Given the description of an element on the screen output the (x, y) to click on. 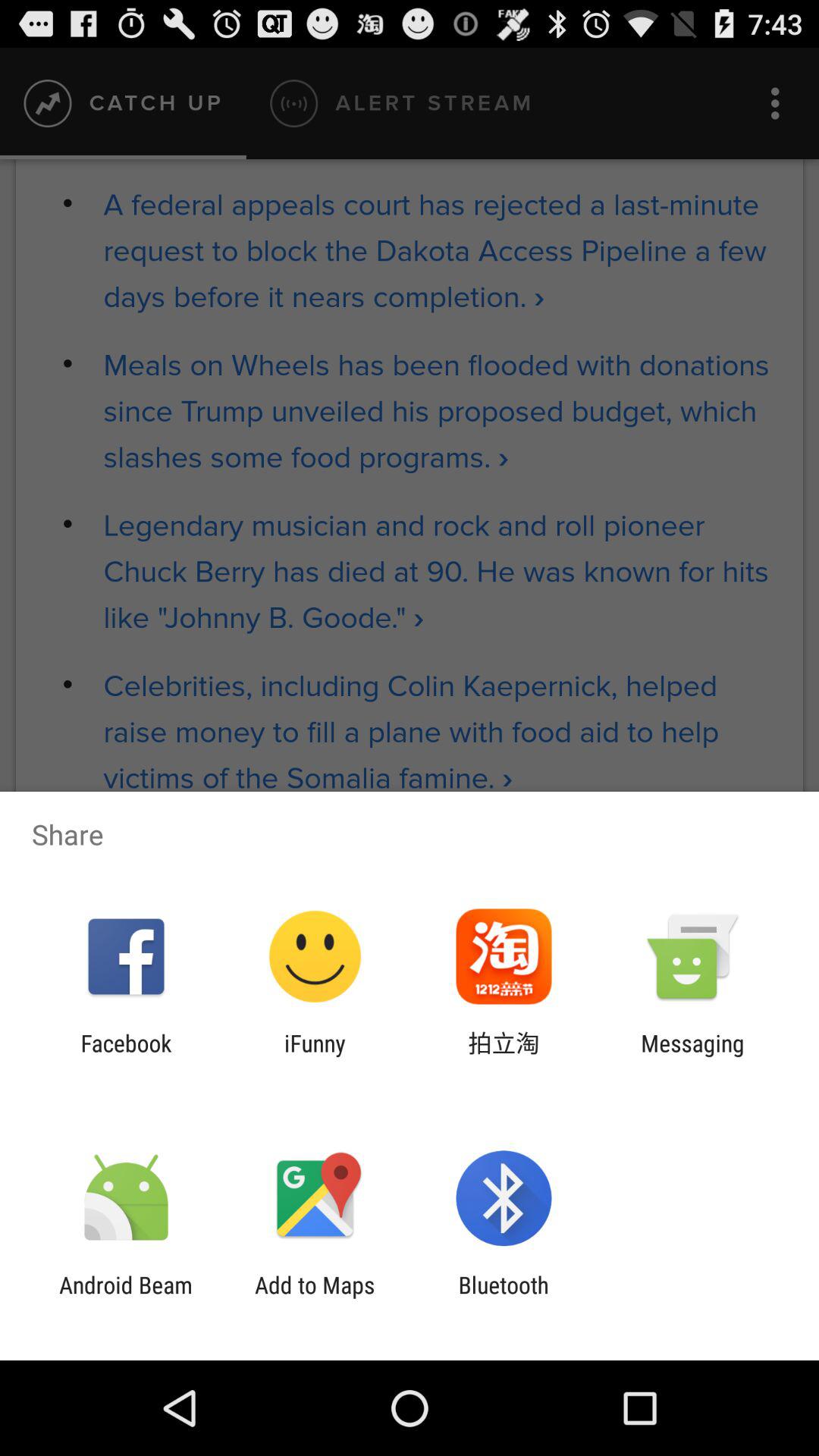
click messaging (692, 1056)
